Given the description of an element on the screen output the (x, y) to click on. 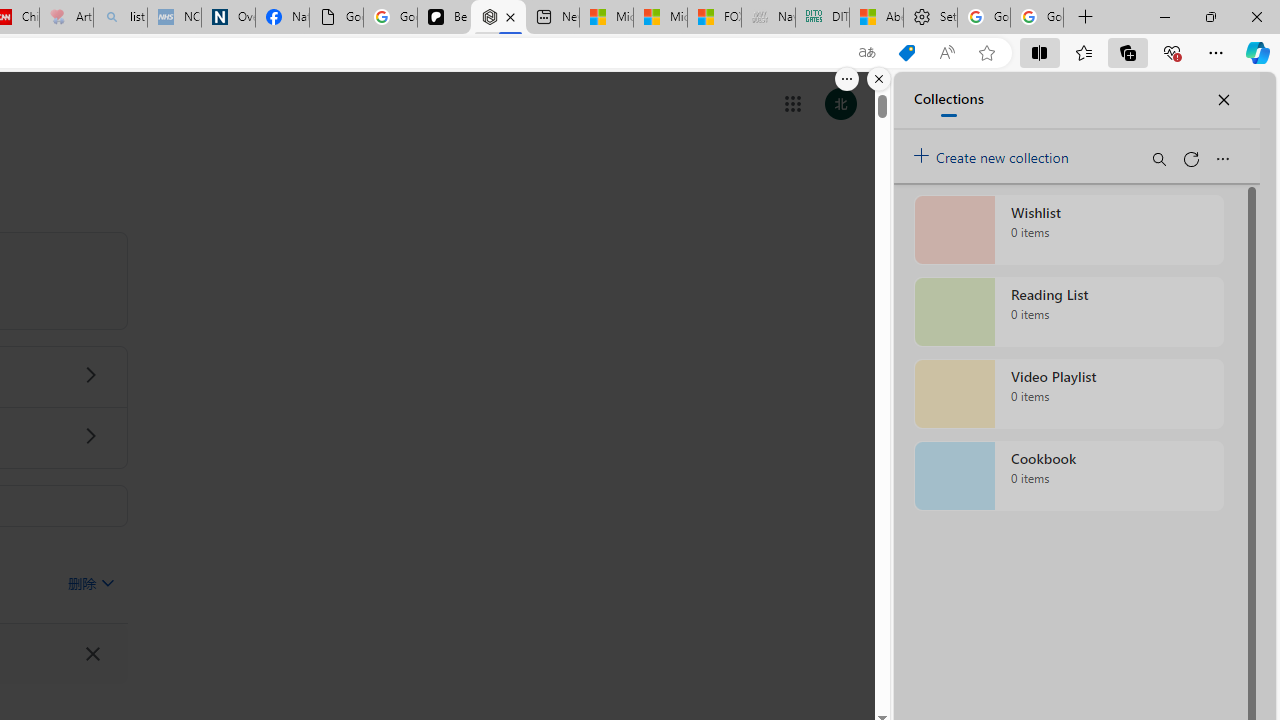
More options. (846, 79)
Be Smart | creating Science videos | Patreon (444, 17)
Arthritis: Ask Health Professionals - Sleeping (66, 17)
This site has coupons! Shopping in Microsoft Edge (906, 53)
